Given the description of an element on the screen output the (x, y) to click on. 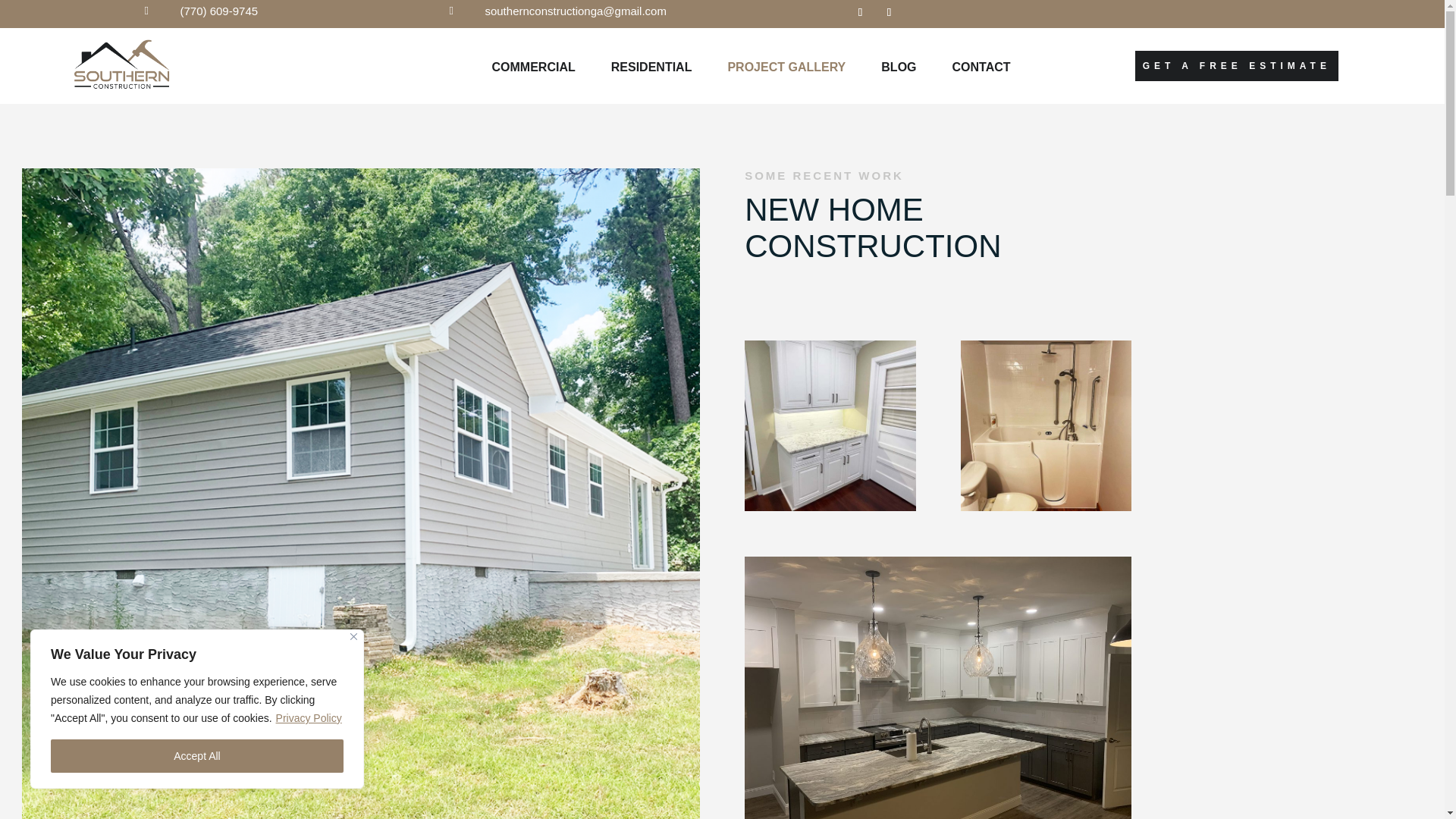
Accept All (196, 756)
Privacy Policy (308, 717)
New kitchen (829, 425)
Follow on Instagram (888, 11)
PROJECT GALLERY (785, 67)
Walk in tub (1045, 425)
GET A FREE ESTIMATE (1236, 65)
CONTACT (981, 67)
New kitchen (937, 687)
Follow on Facebook (859, 11)
COMMERCIAL (533, 67)
RESIDENTIAL (652, 67)
